Given the description of an element on the screen output the (x, y) to click on. 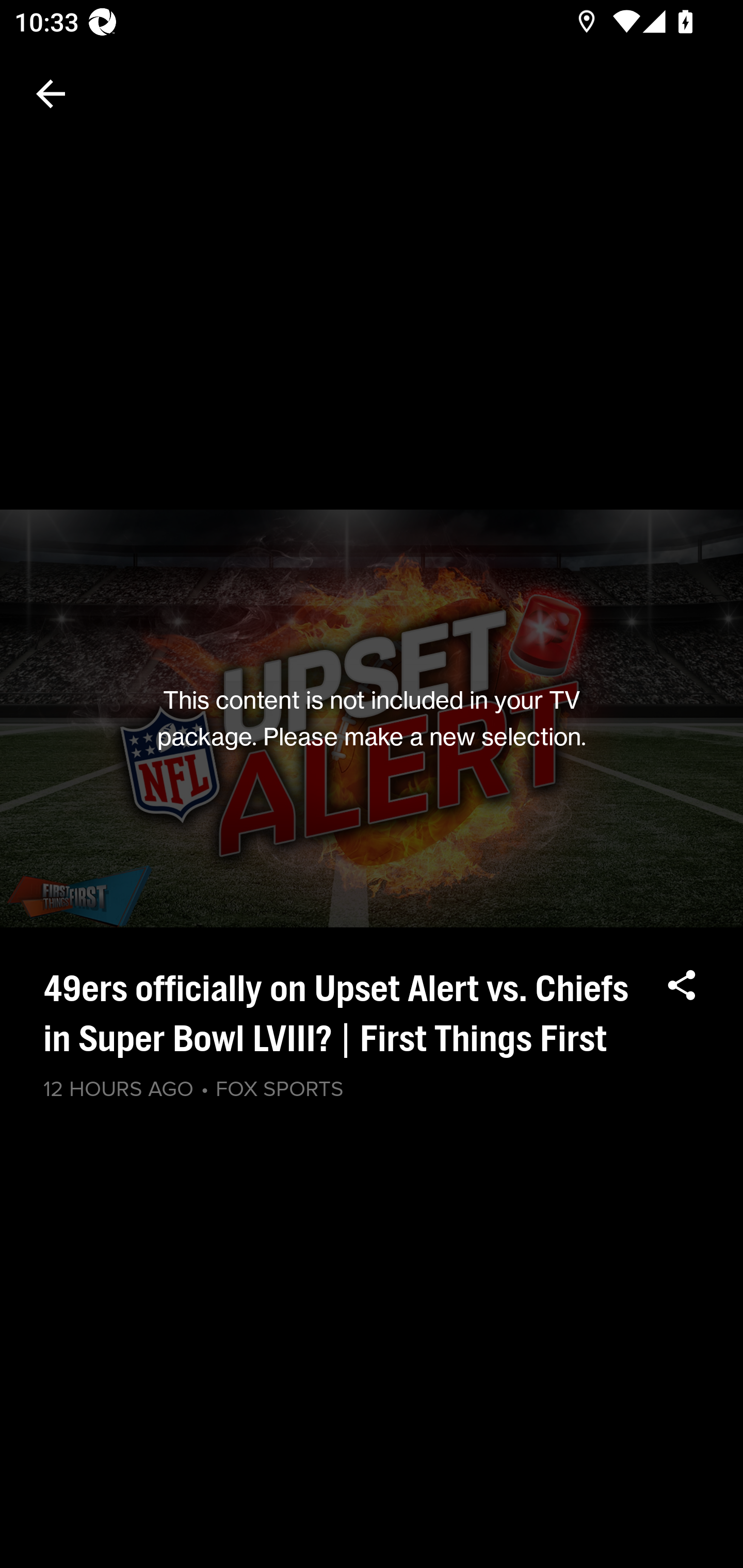
Navigate up (50, 93)
